Given the description of an element on the screen output the (x, y) to click on. 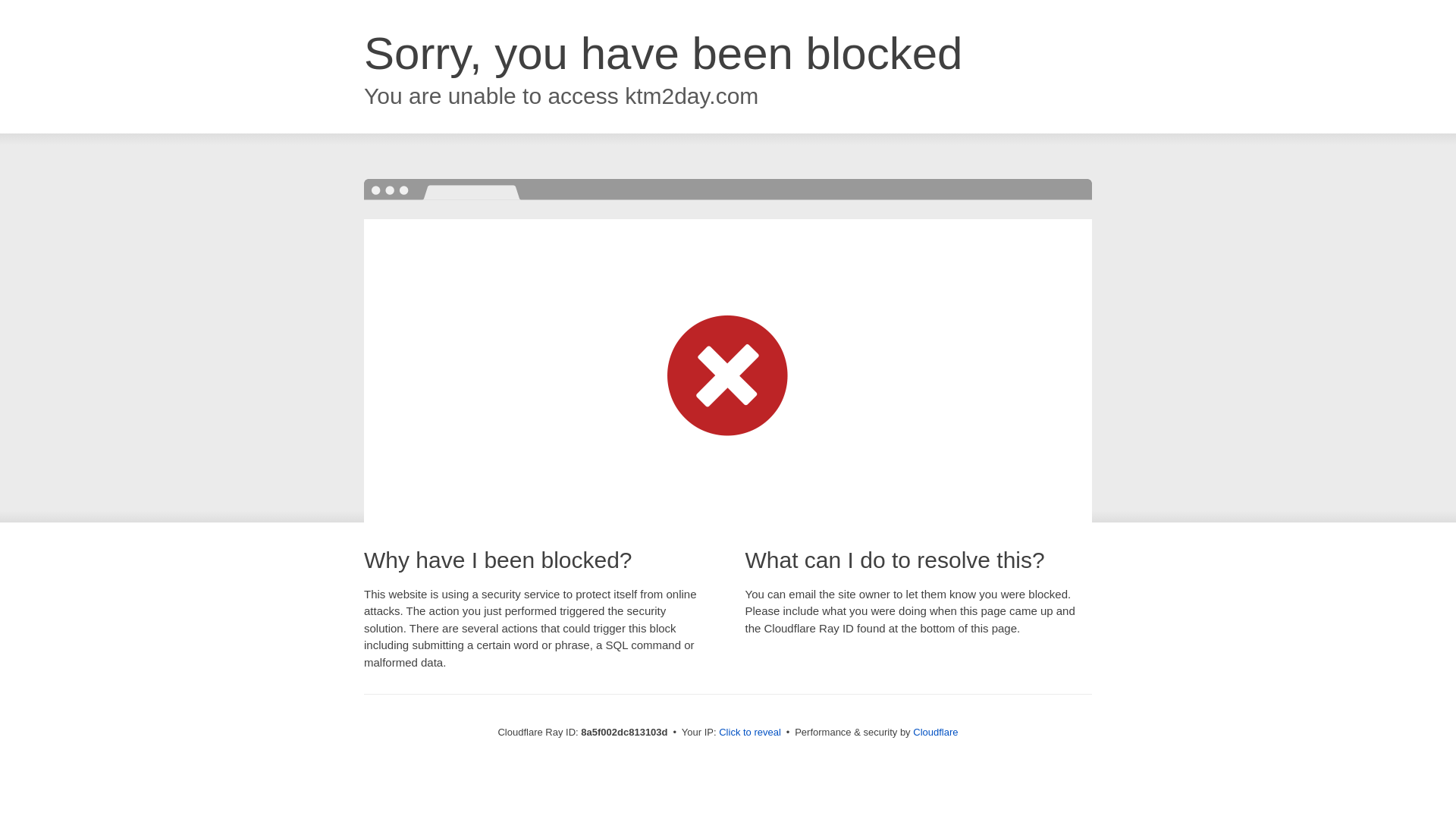
Click to reveal (749, 732)
Cloudflare (935, 731)
